Given the description of an element on the screen output the (x, y) to click on. 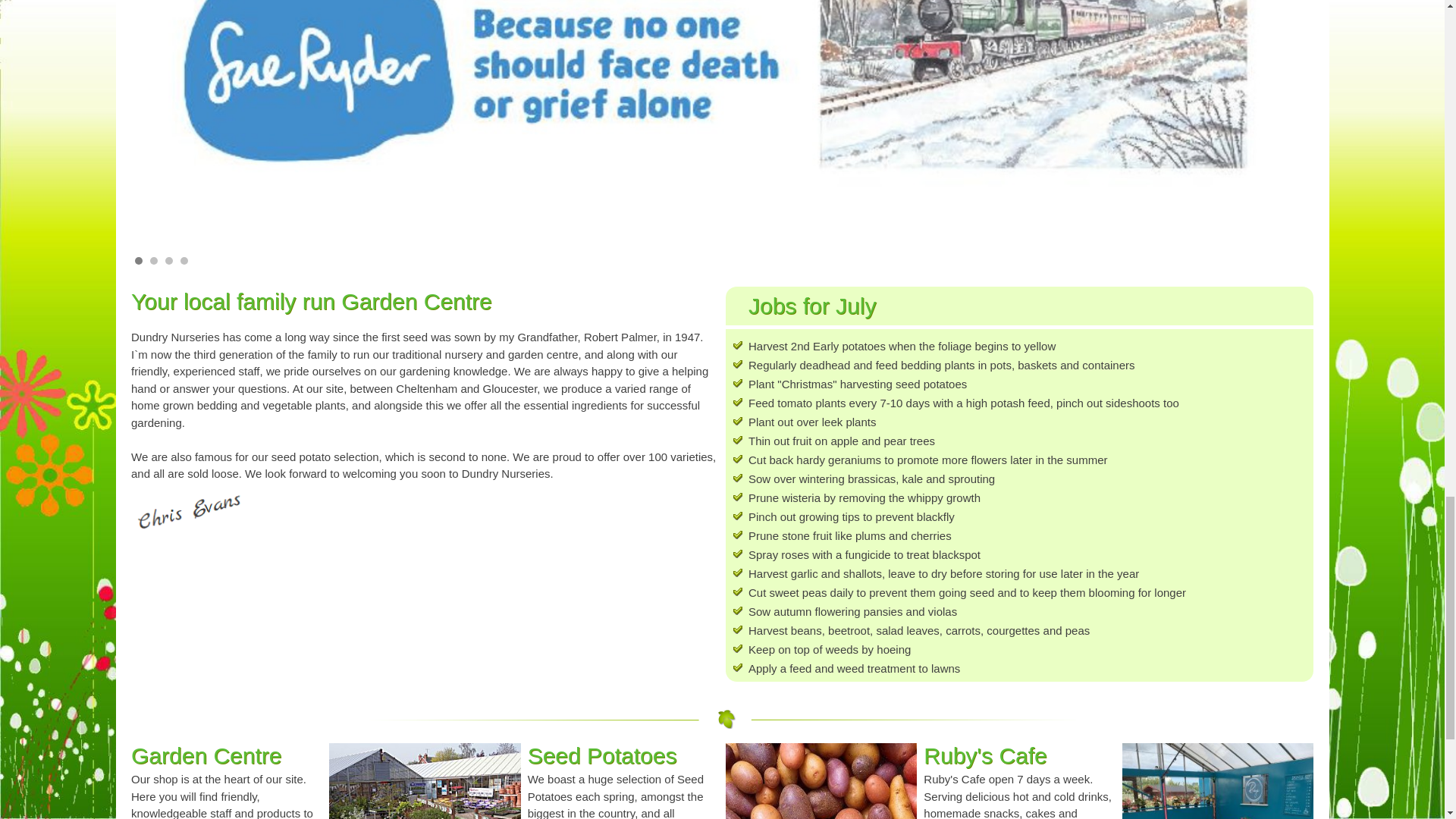
3 (169, 260)
2 (153, 260)
4 (183, 260)
1 (138, 260)
Start (1294, 259)
